Given the description of an element on the screen output the (x, y) to click on. 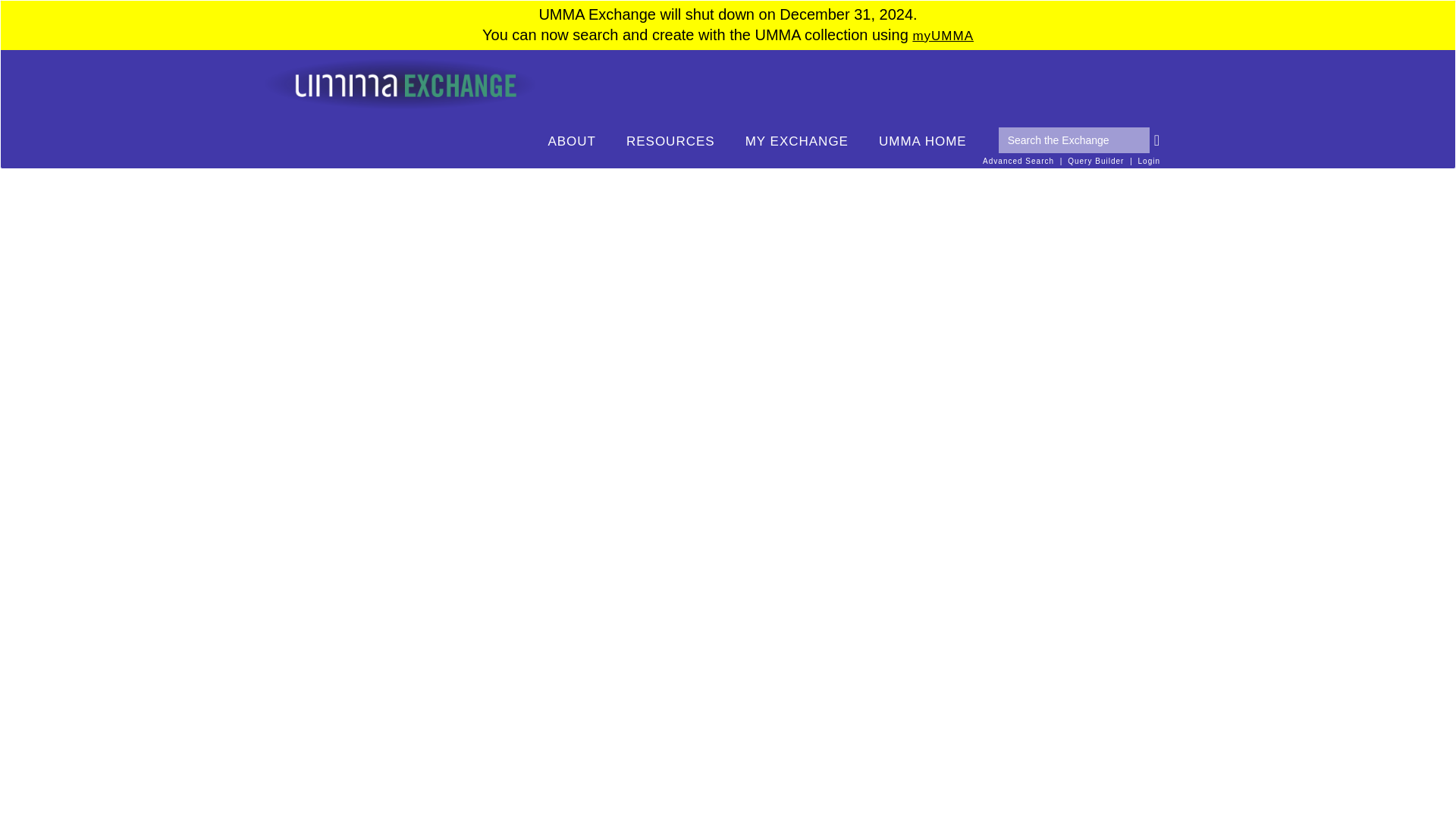
myUMMA (943, 35)
UMMA HOME (922, 141)
Query Builder (1095, 161)
MY EXCHANGE (796, 141)
RESOURCES (670, 141)
Advanced Search (1018, 161)
ABOUT (571, 141)
Login (1149, 161)
